Given the description of an element on the screen output the (x, y) to click on. 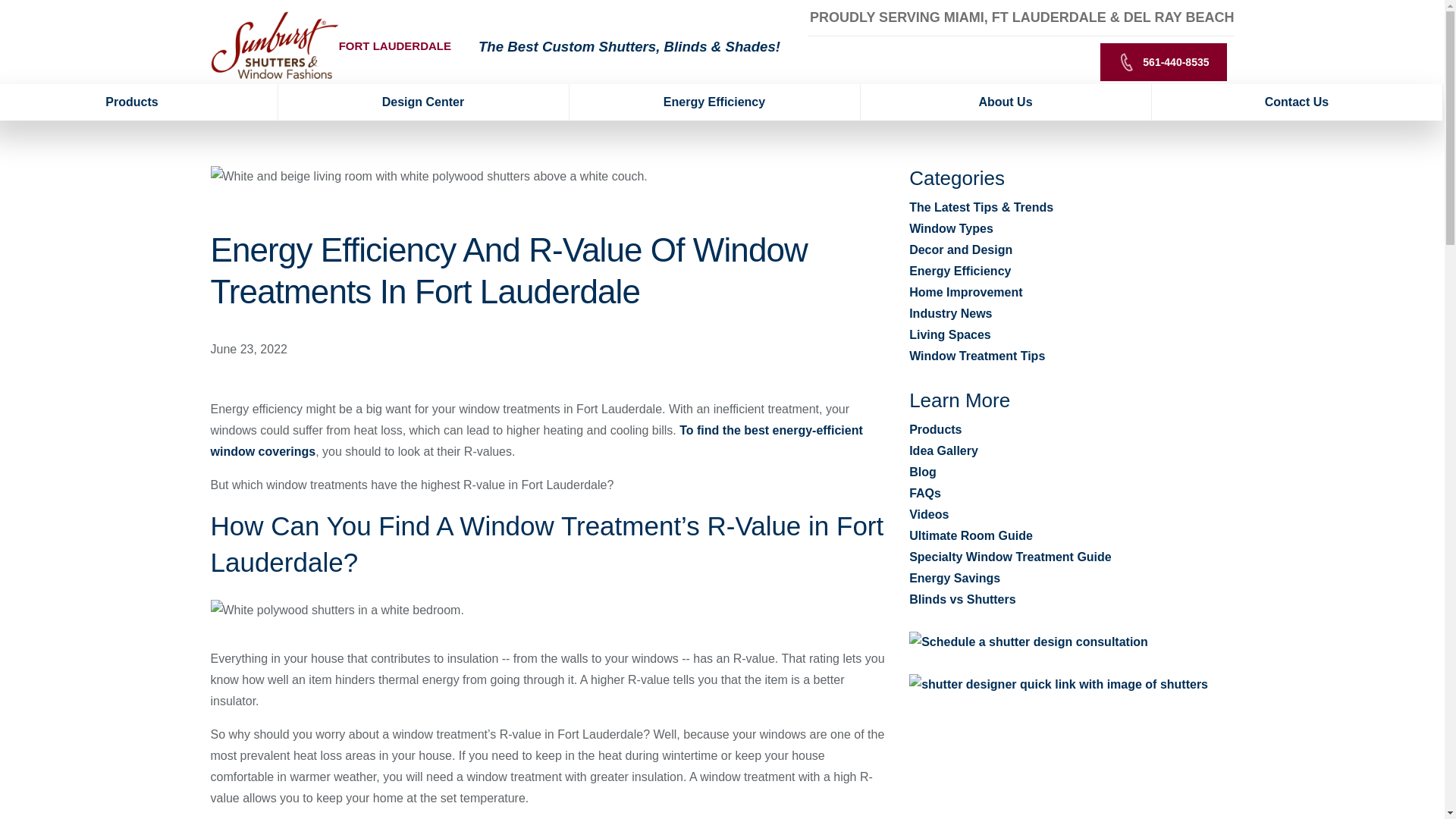
561-440-8535 (1162, 62)
Sunburst Shutters Fort Lauderdale Home (275, 45)
Products (139, 102)
Design Center (423, 102)
